Given the description of an element on the screen output the (x, y) to click on. 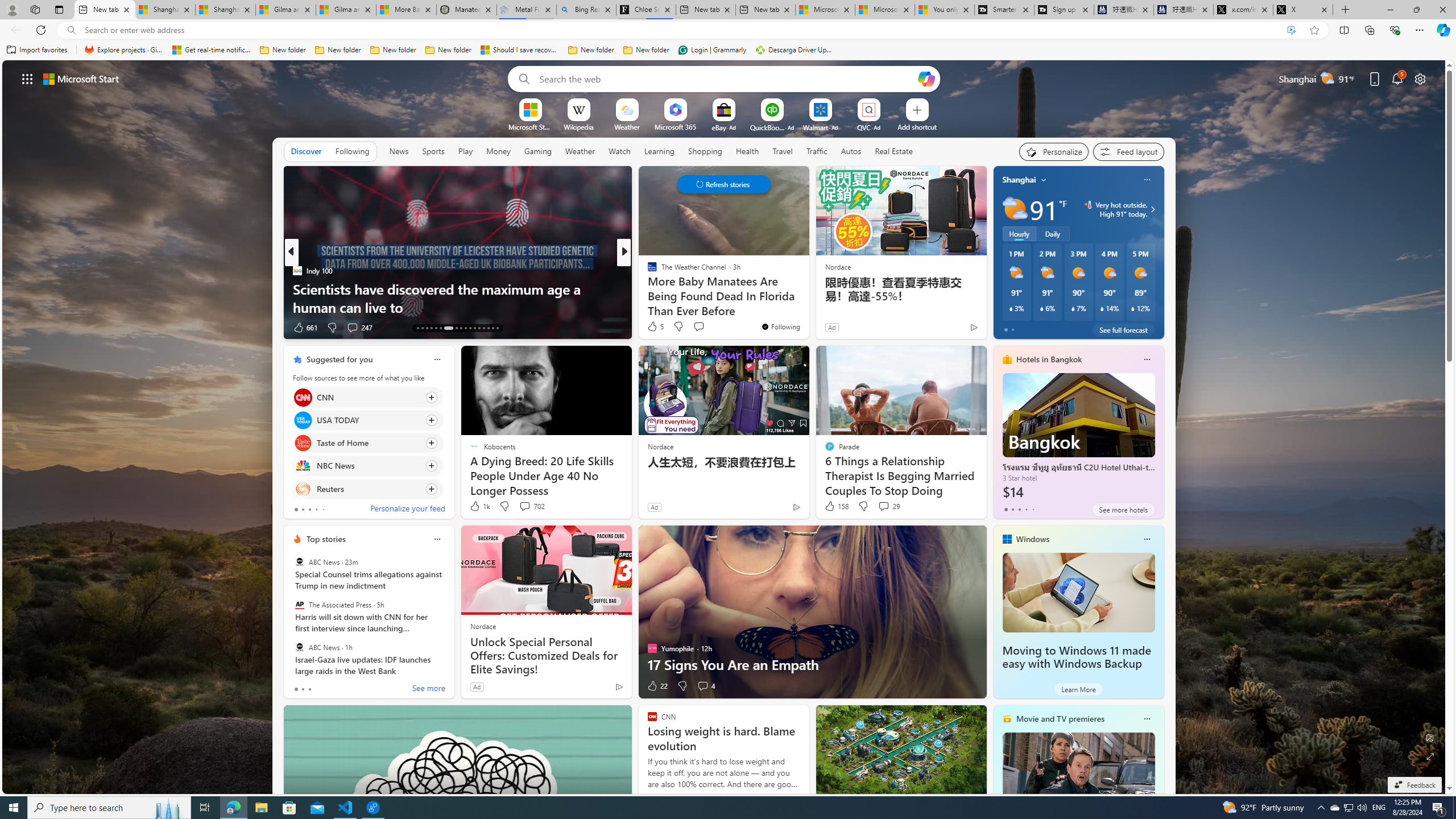
Class: weather-arrow-glyph (1152, 208)
Class: icon-img (1146, 718)
View comments 19 Comment (707, 327)
Import favorites (36, 49)
Daily (1052, 233)
AutomationID: tab-19 (448, 328)
661 Like (304, 327)
